Given the description of an element on the screen output the (x, y) to click on. 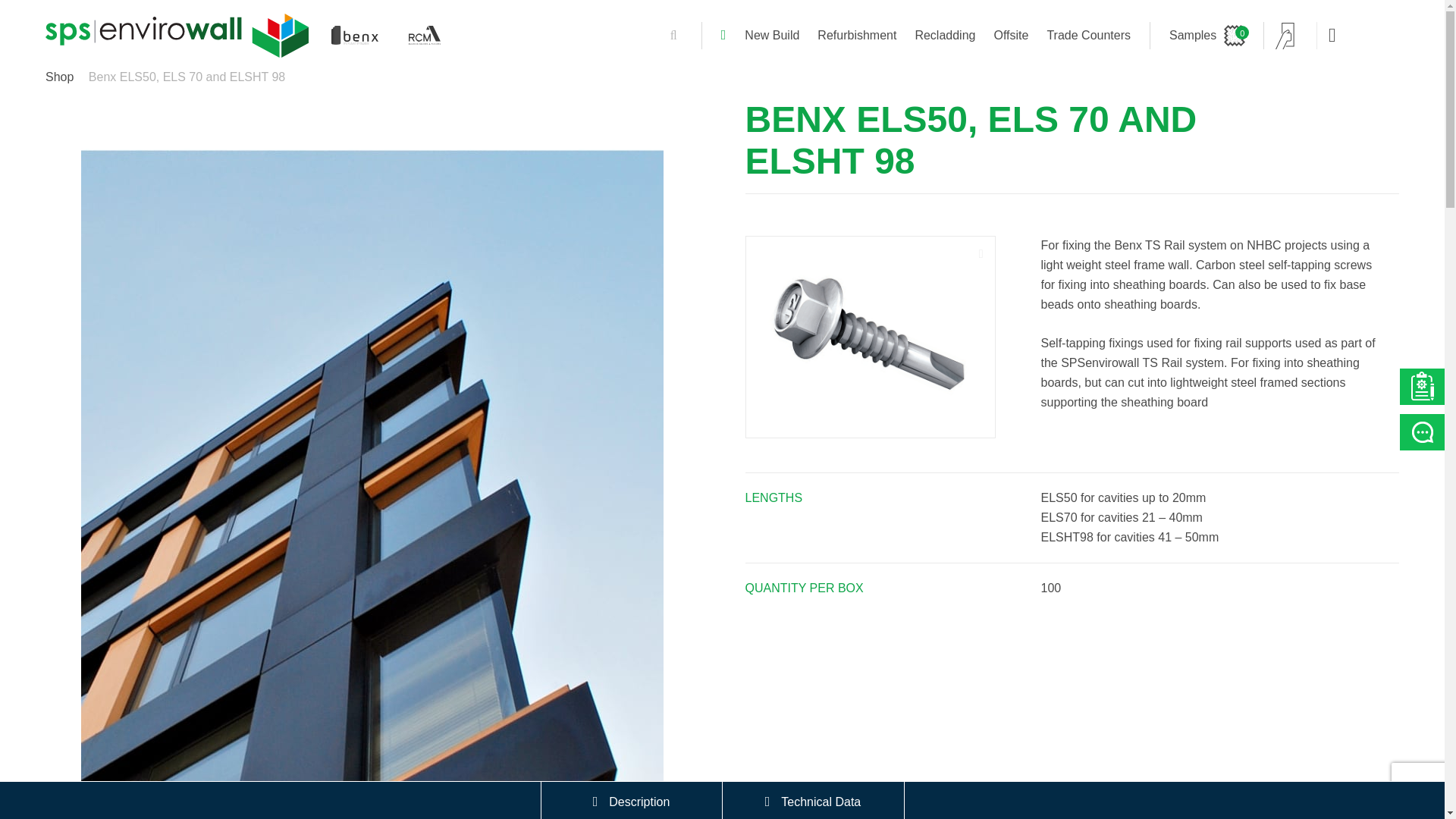
Recladding (944, 35)
Technical Data (812, 800)
New Build (771, 35)
Description (631, 800)
Refurbishment (856, 35)
